Given the description of an element on the screen output the (x, y) to click on. 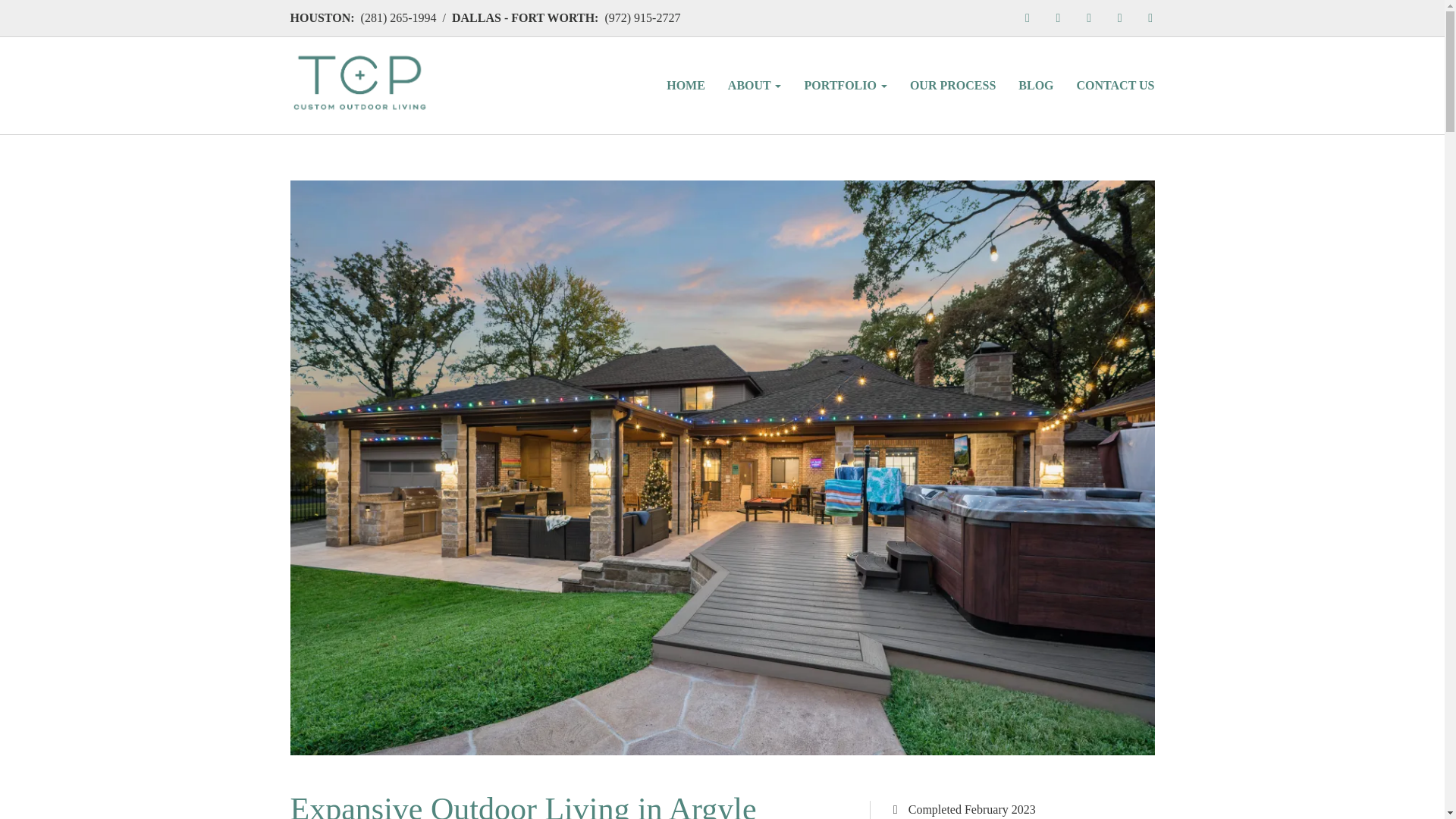
OUR PROCESS (952, 85)
PORTFOLIO (845, 85)
CONTACT US (1115, 85)
Portfolio (845, 85)
